Given the description of an element on the screen output the (x, y) to click on. 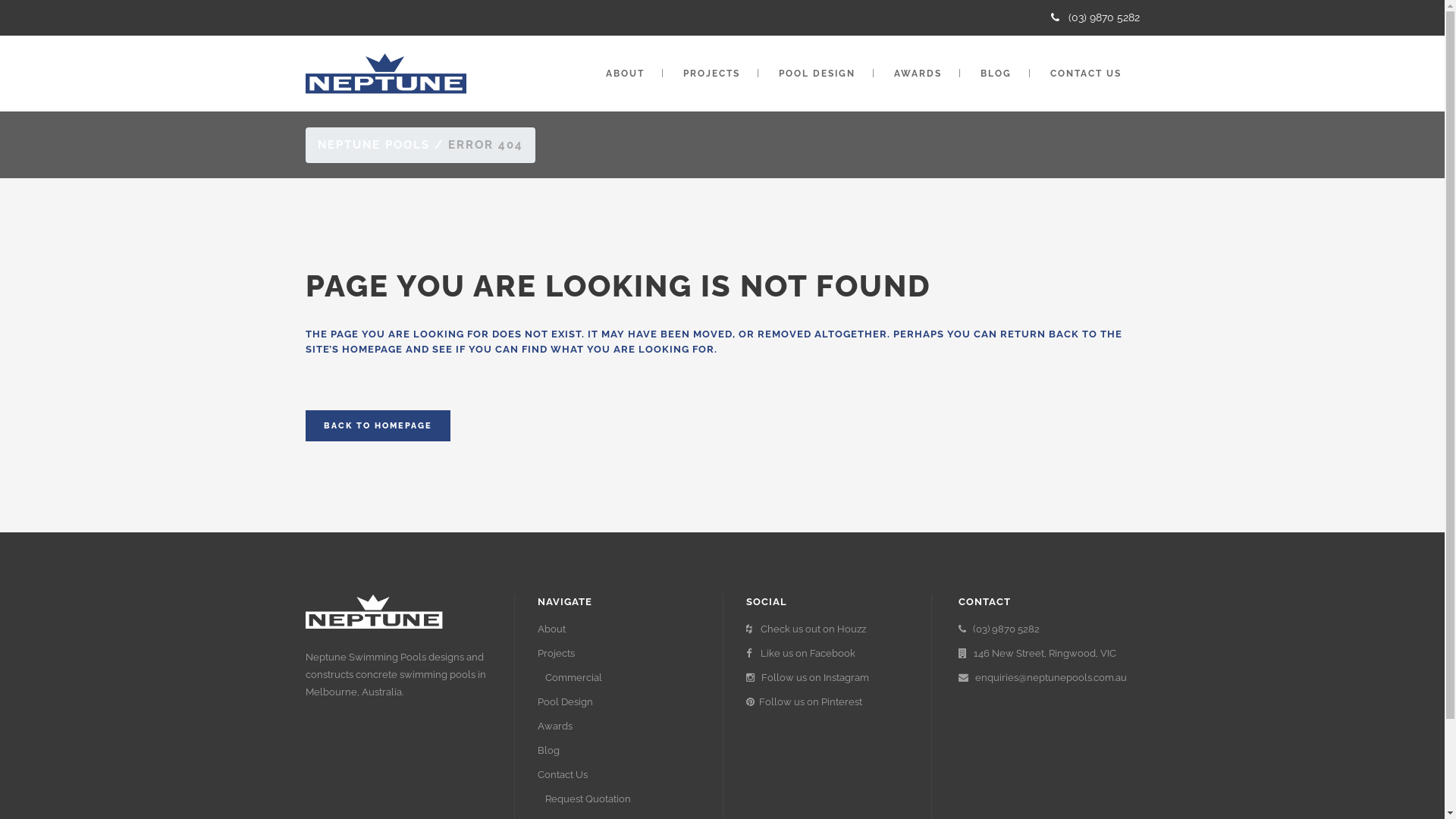
   (03) 9870 5282 Element type: text (1095, 17)
BLOG Element type: text (995, 73)
Awards Element type: text (617, 726)
Blog Element type: text (617, 750)
Pool Design Element type: text (617, 701)
   Follow us on Instagram Element type: text (827, 677)
Request Quotation Element type: text (621, 798)
Commercial Element type: text (621, 677)
Projects Element type: text (617, 653)
    Check us out on Houzz Element type: text (827, 629)
   Like us on Facebook Element type: text (827, 653)
   146 New Street, Ringwood, VIC Element type: text (1048, 653)
  Follow us on Pinterest Element type: text (827, 701)
Contact Us Element type: text (617, 774)
About Element type: text (617, 629)
POOL DESIGN Element type: text (815, 73)
ABOUT Element type: text (624, 73)
AWARDS Element type: text (917, 73)
PROJECTS Element type: text (710, 73)
BACK TO HOMEPAGE Element type: text (376, 425)
CONTACT US Element type: text (1085, 73)
   (03) 9870 5282 Element type: text (1048, 629)
NEPTUNE POOLS Element type: text (372, 144)
   enquiries@neptunepools.com.au Element type: text (1048, 677)
